Given the description of an element on the screen output the (x, y) to click on. 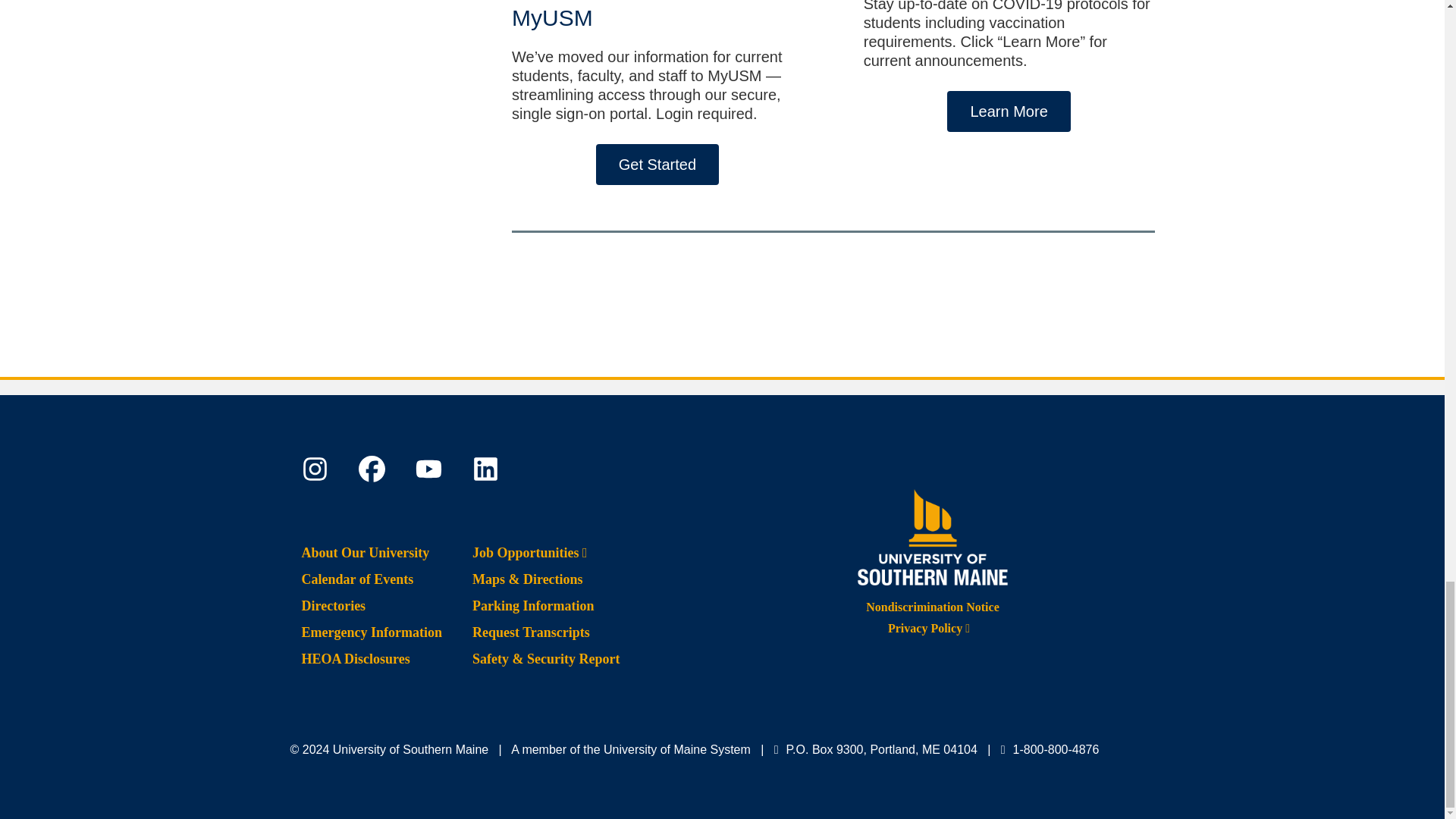
University of Southern Maine (933, 533)
